Given the description of an element on the screen output the (x, y) to click on. 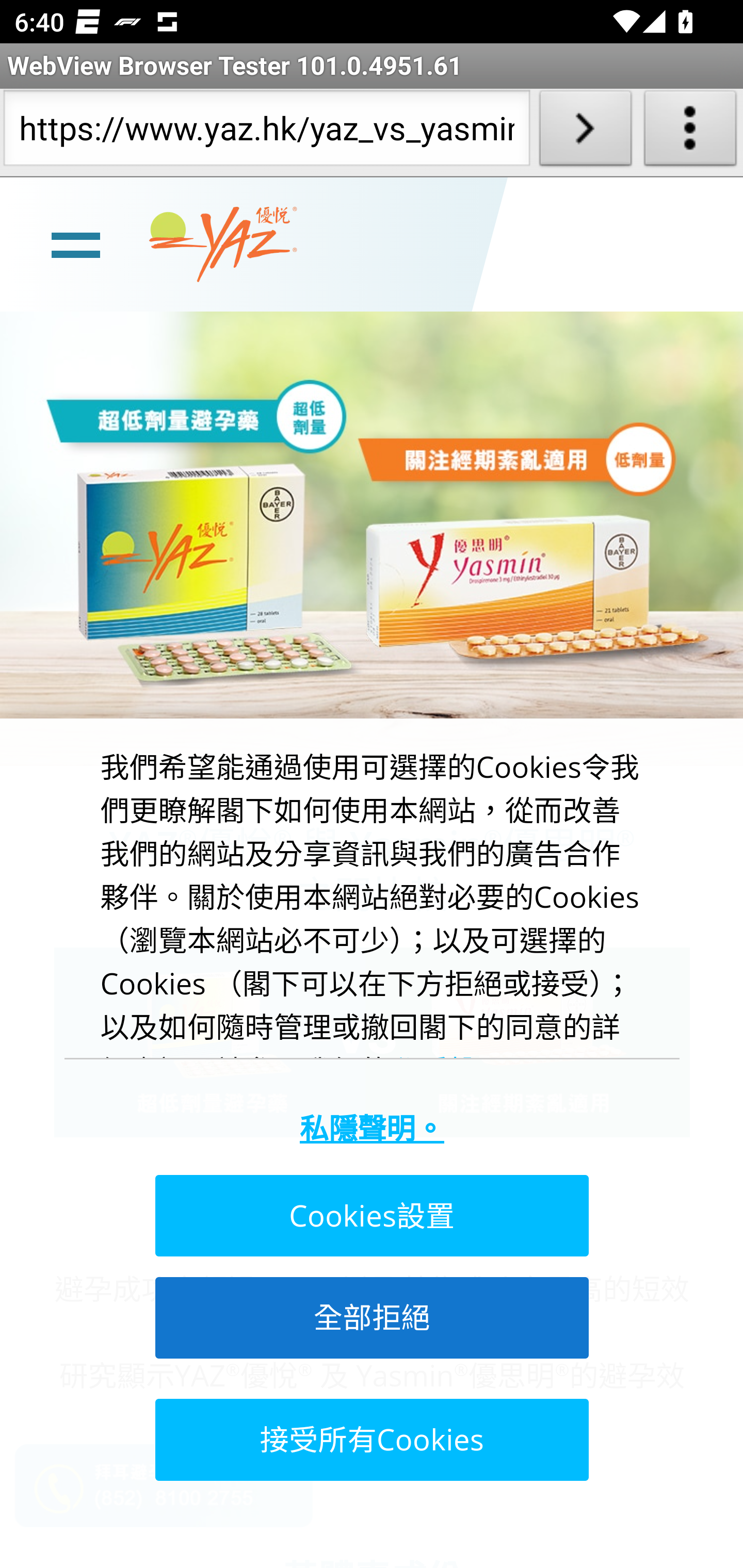
Load URL (585, 132)
About WebView (690, 132)
www.yaz (222, 244)
line Toggle burger menu (75, 242)
Cookies設置 (370, 1215)
全部拒絕 (370, 1317)
接受所有Cookies (370, 1439)
